Given the description of an element on the screen output the (x, y) to click on. 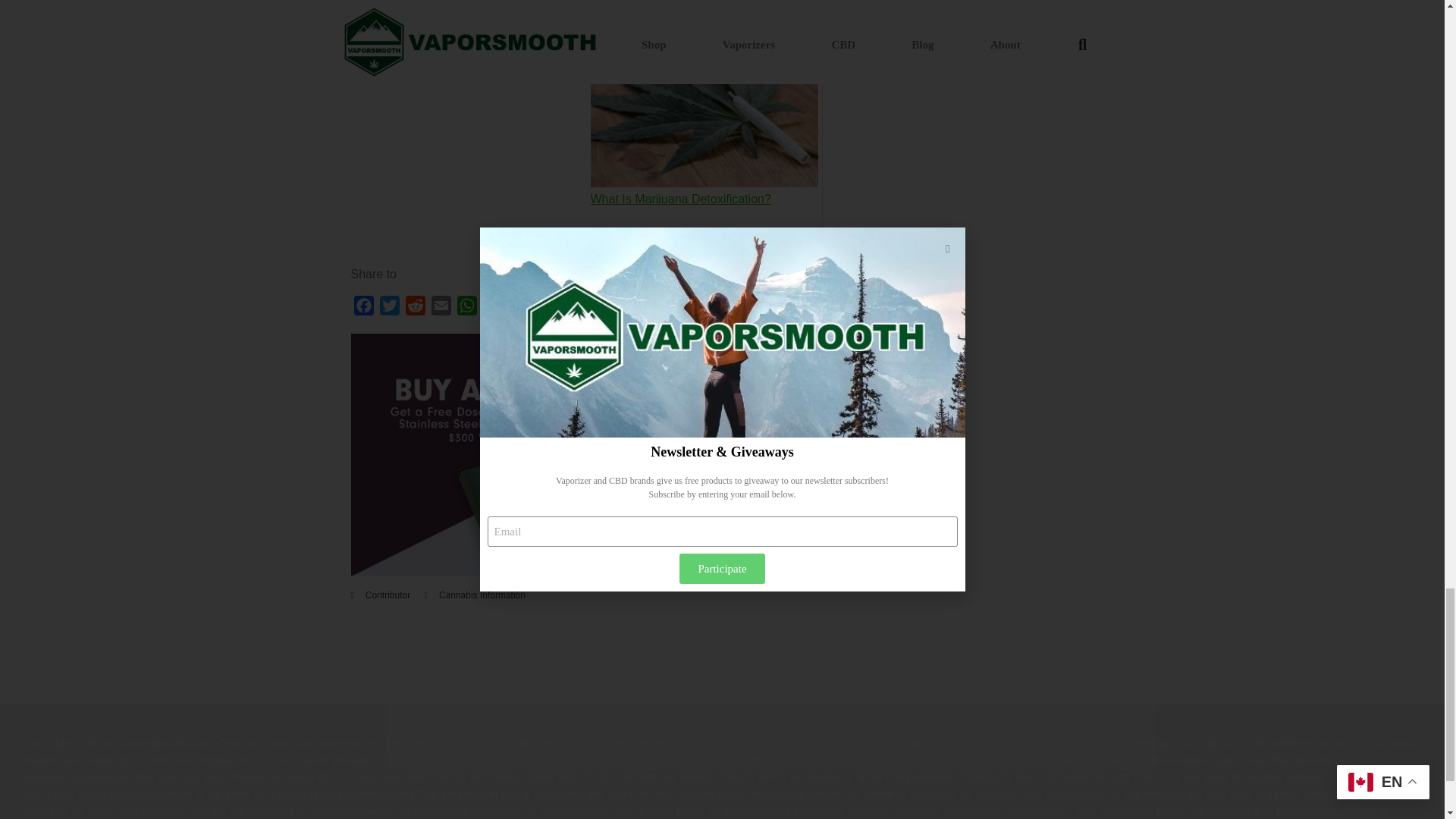
Reddit (414, 308)
Davinci General (595, 571)
Facebook (362, 308)
WhatsApp (465, 308)
View all posts by Contributor (387, 594)
View all posts in Cannabis Information (482, 594)
Twitter (388, 308)
Email (440, 308)
